Given the description of an element on the screen output the (x, y) to click on. 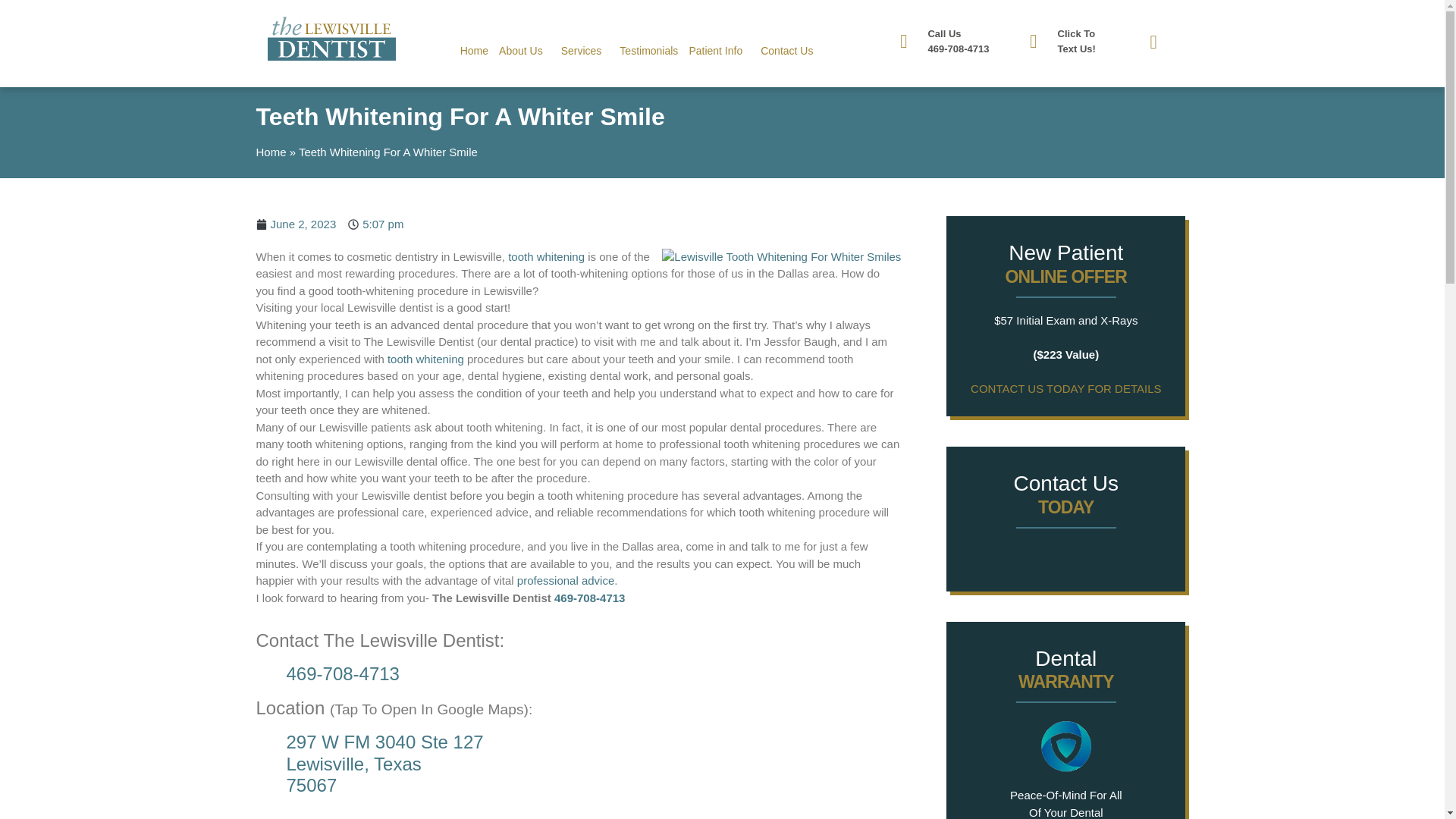
Services (585, 50)
About Us (524, 50)
Lewisville tooth whitening (546, 256)
Home (473, 50)
